Given the description of an element on the screen output the (x, y) to click on. 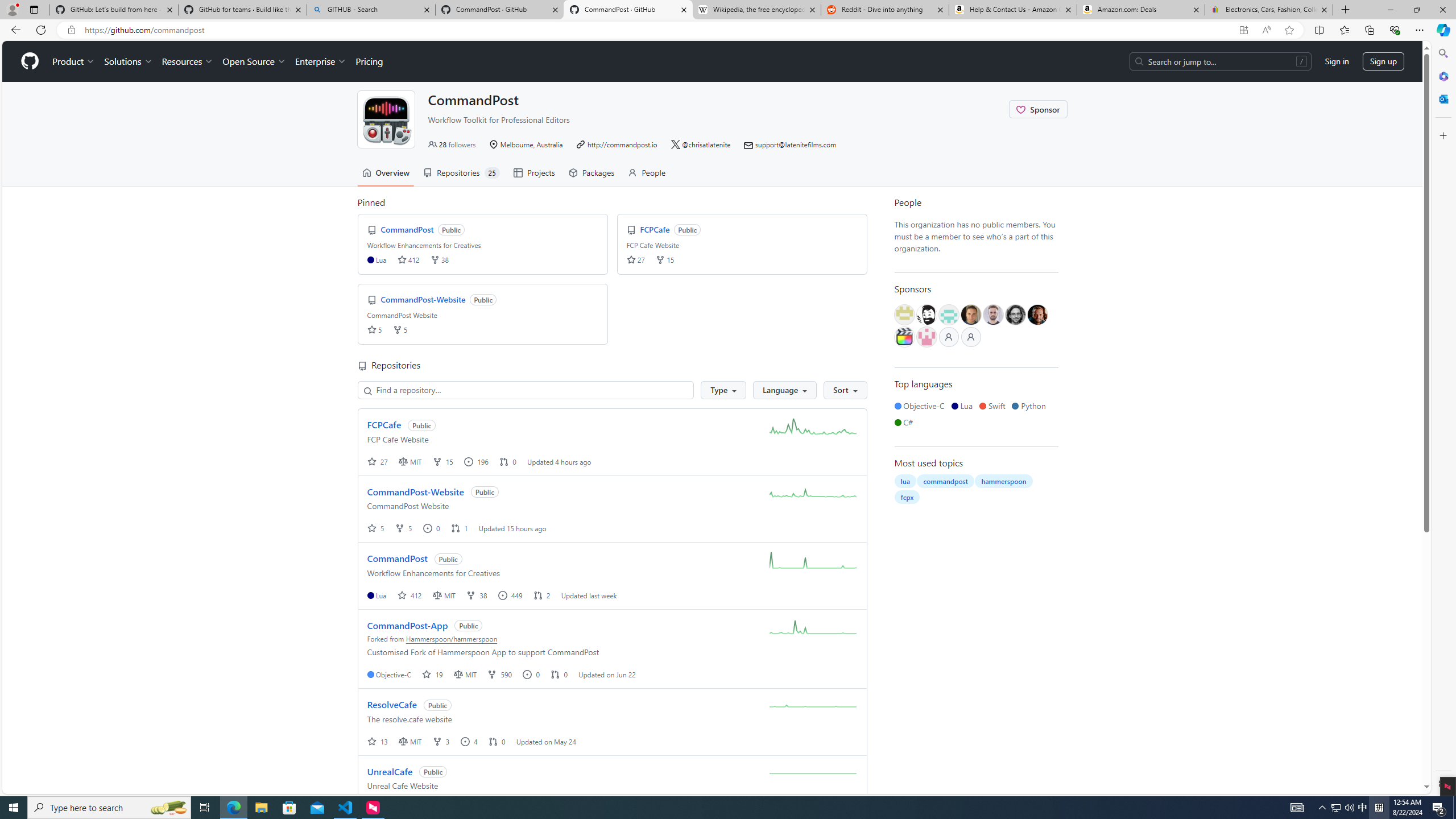
Repositories25 (461, 172)
http://commandpost.io (617, 144)
stars 27 (635, 259)
@davvidavvi (1037, 314)
fork 38  (477, 595)
Pricing (368, 60)
 27  (378, 461)
Melbourne, Australia (526, 144)
People (975, 202)
Pricing (368, 60)
Enterprise (319, 60)
lua (904, 481)
